Given the description of an element on the screen output the (x, y) to click on. 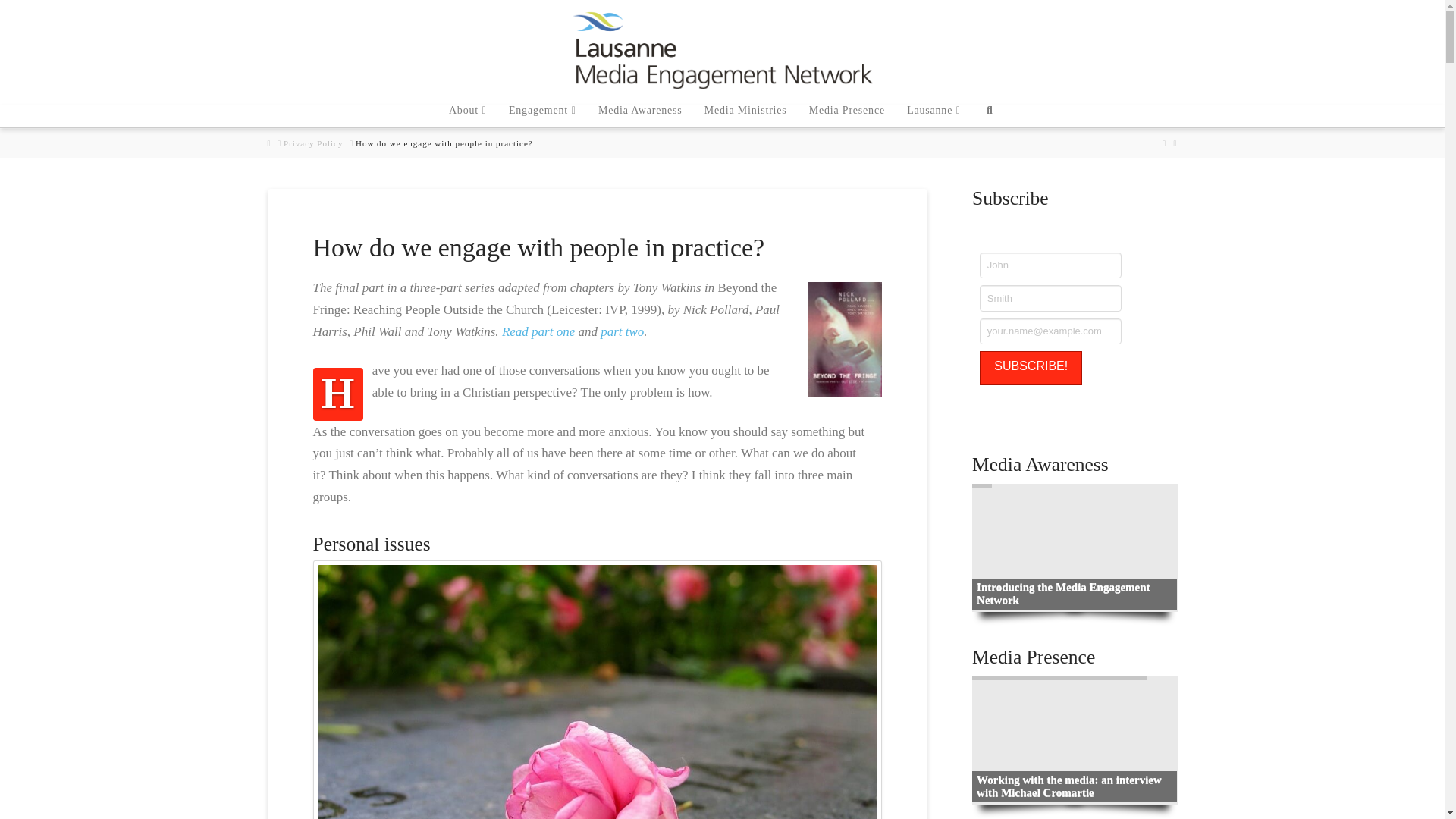
How do we engage with people in practice? (443, 143)
Media Presence (846, 110)
Media Awareness (639, 110)
About (467, 110)
Subscribe! (1030, 367)
Lausanne (933, 110)
Privacy Policy (312, 143)
Engagement (541, 110)
Media Ministries (745, 110)
You Are Here (443, 143)
